Given the description of an element on the screen output the (x, y) to click on. 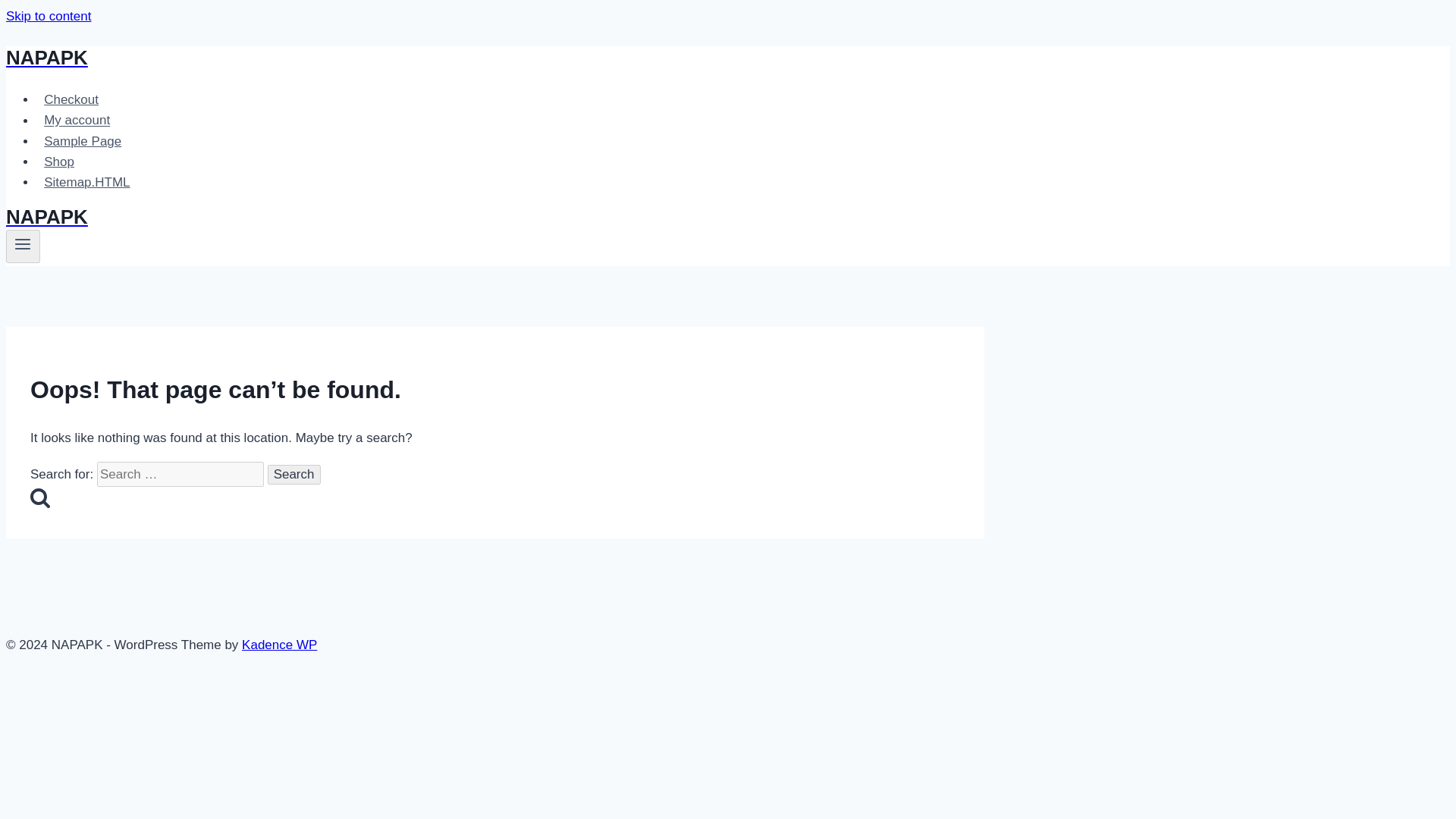
Search (39, 496)
Toggle Menu (22, 245)
Checkout (71, 99)
Skip to content (47, 16)
NAPAPK (494, 57)
Shop (58, 161)
Skip to content (47, 16)
Search (293, 474)
NAPAPK (494, 217)
Kadence WP (279, 644)
Search (293, 474)
Sitemap.HTML (87, 182)
Search (293, 474)
My account (76, 120)
Toggle Menu (22, 244)
